Given the description of an element on the screen output the (x, y) to click on. 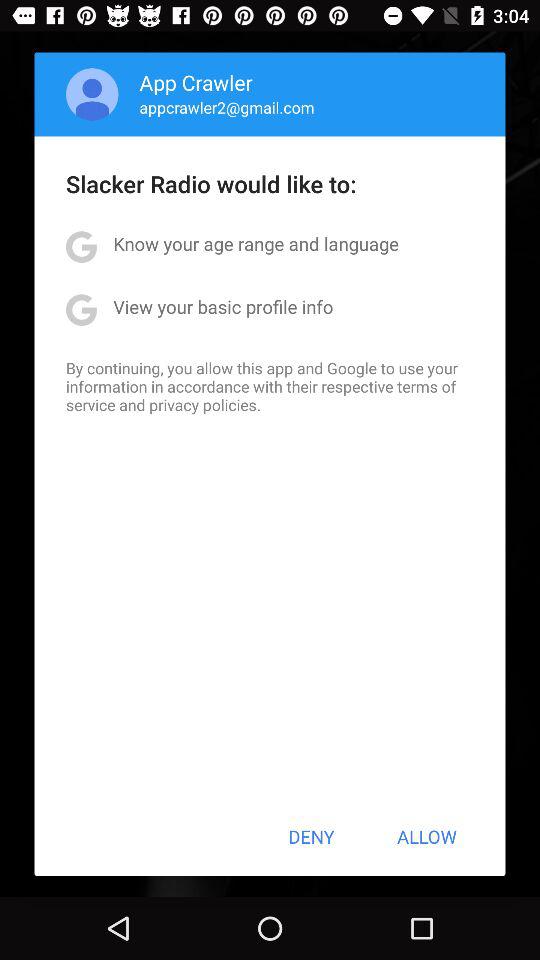
press view your basic icon (223, 306)
